Given the description of an element on the screen output the (x, y) to click on. 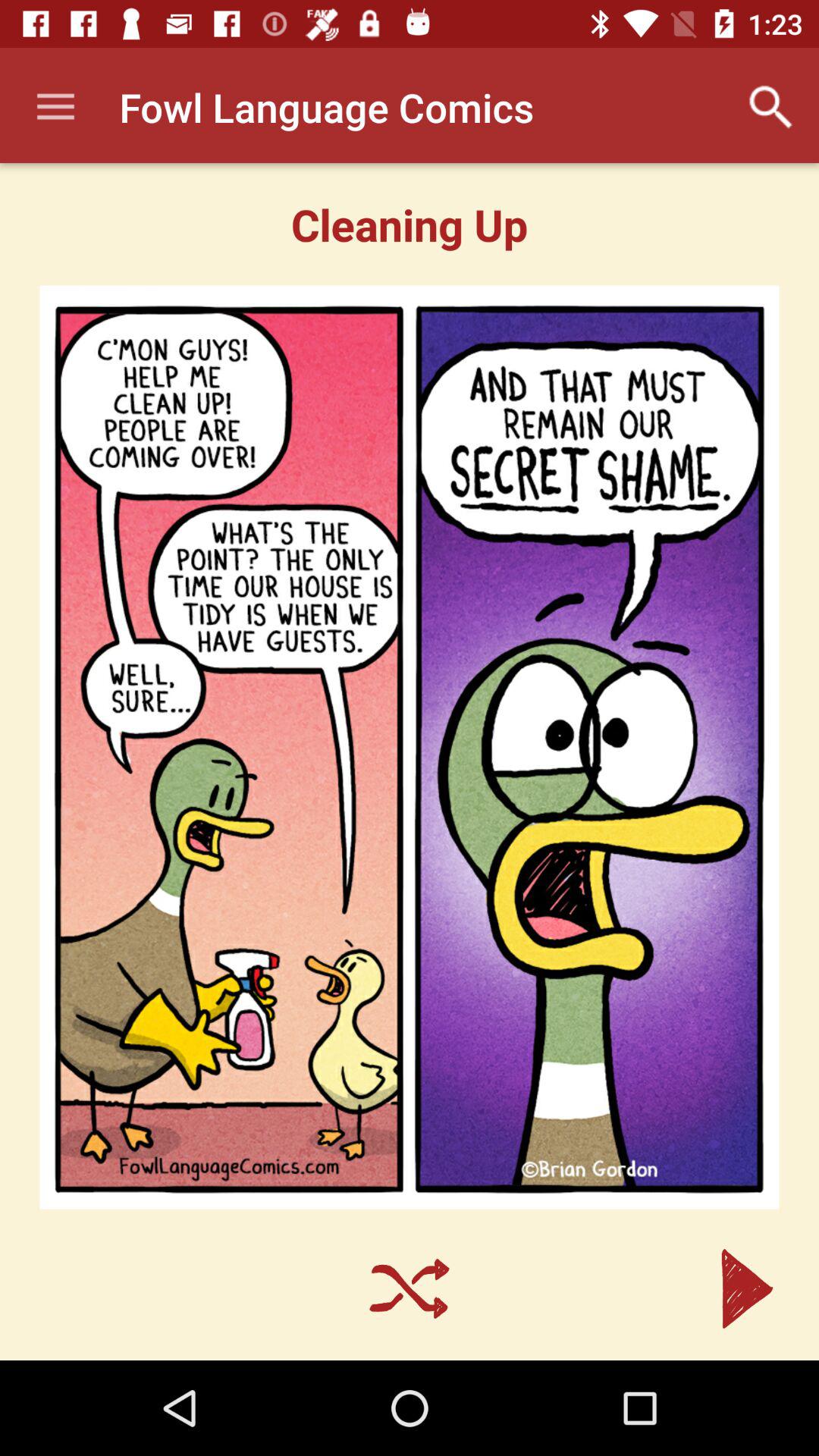
choose the app next to fowl language comics icon (771, 107)
